Given the description of an element on the screen output the (x, y) to click on. 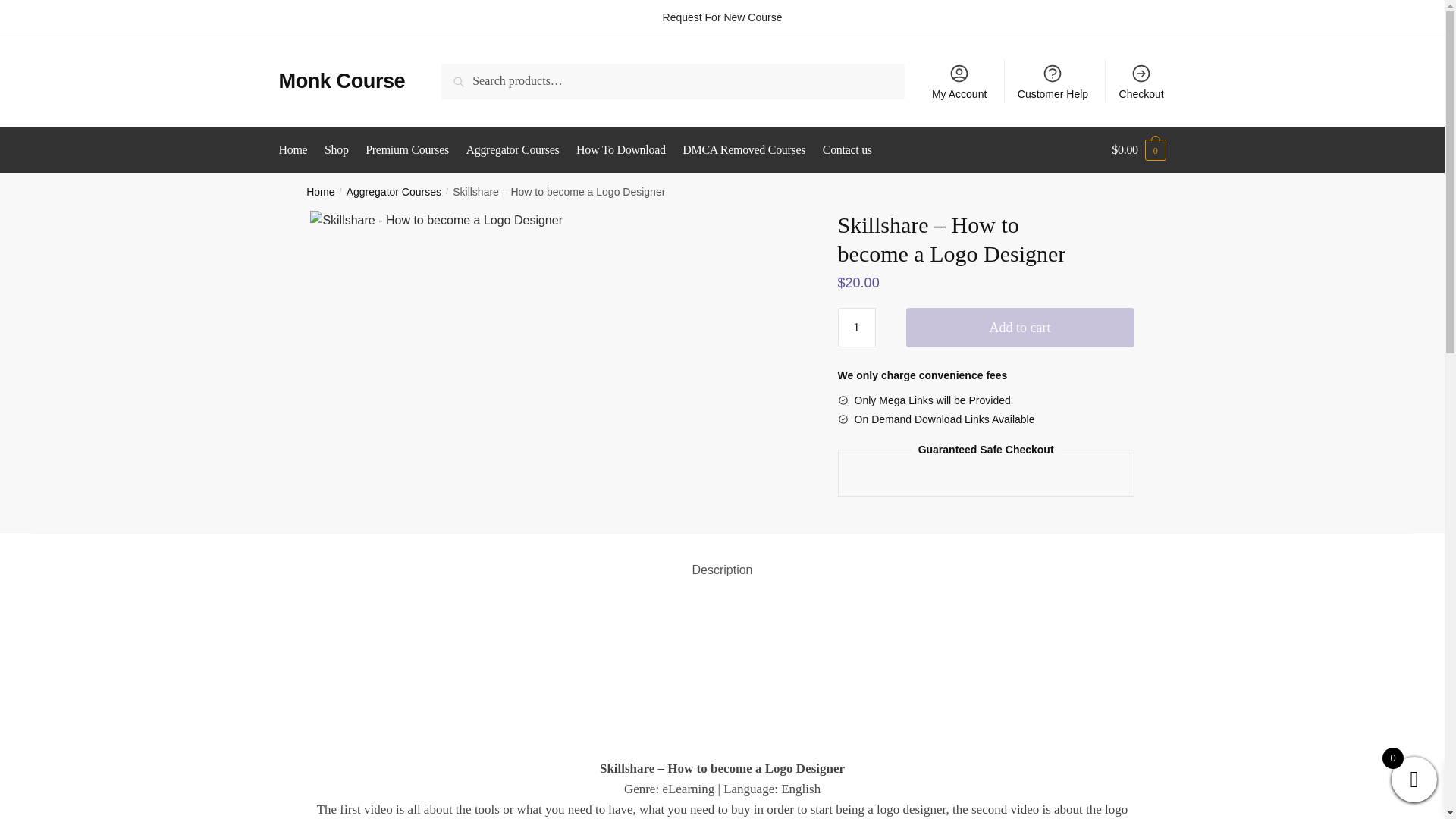
View your shopping cart (1139, 149)
Aggregator Courses (513, 149)
Search (462, 74)
Add to cart (1019, 327)
Checkout (1141, 80)
93ba5813d056cf52fc6dd2b000bb9d48 (436, 220)
1 (857, 327)
Home (319, 191)
Premium Courses (406, 149)
Aggregator Courses (393, 191)
